Given the description of an element on the screen output the (x, y) to click on. 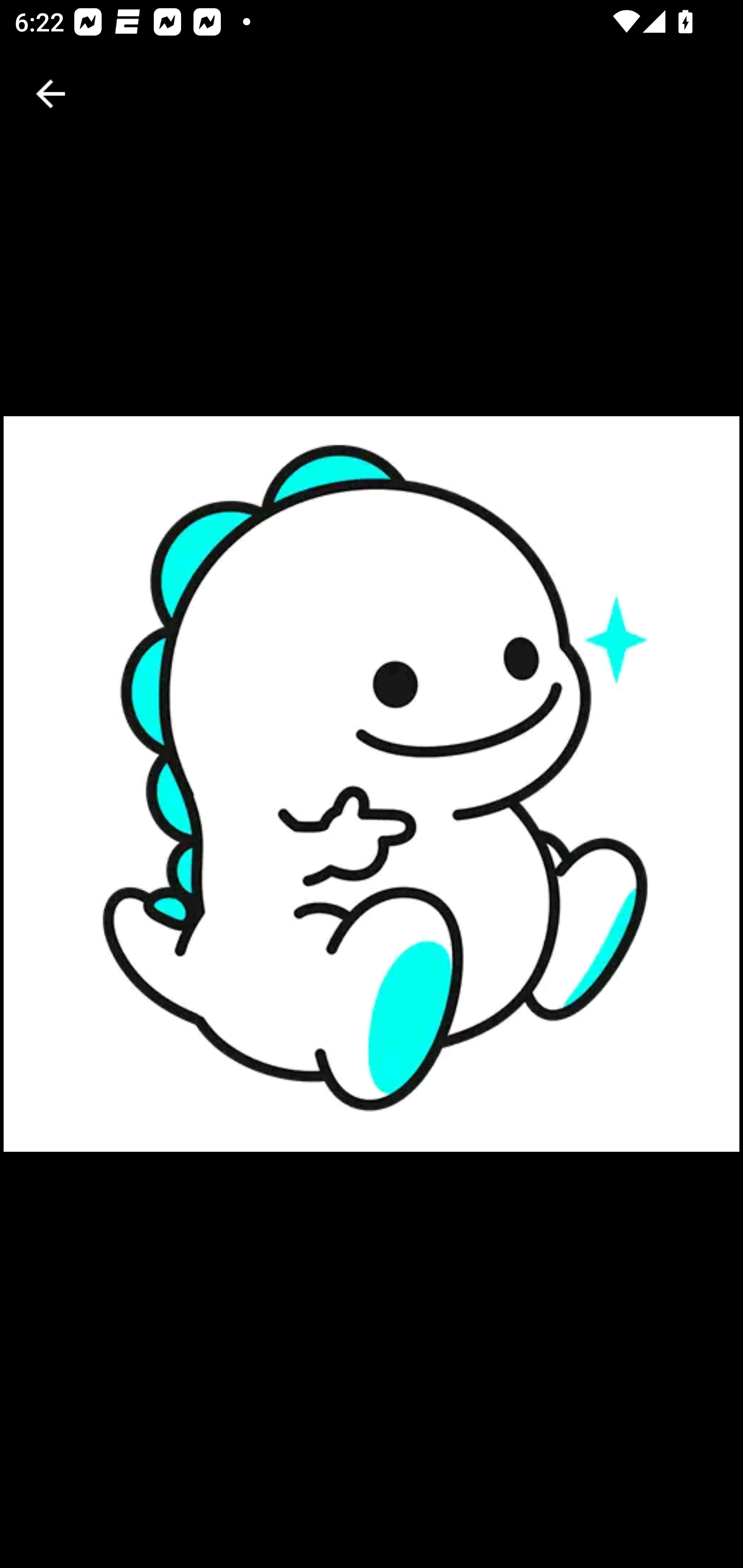
Back (50, 93)
